Given the description of an element on the screen output the (x, y) to click on. 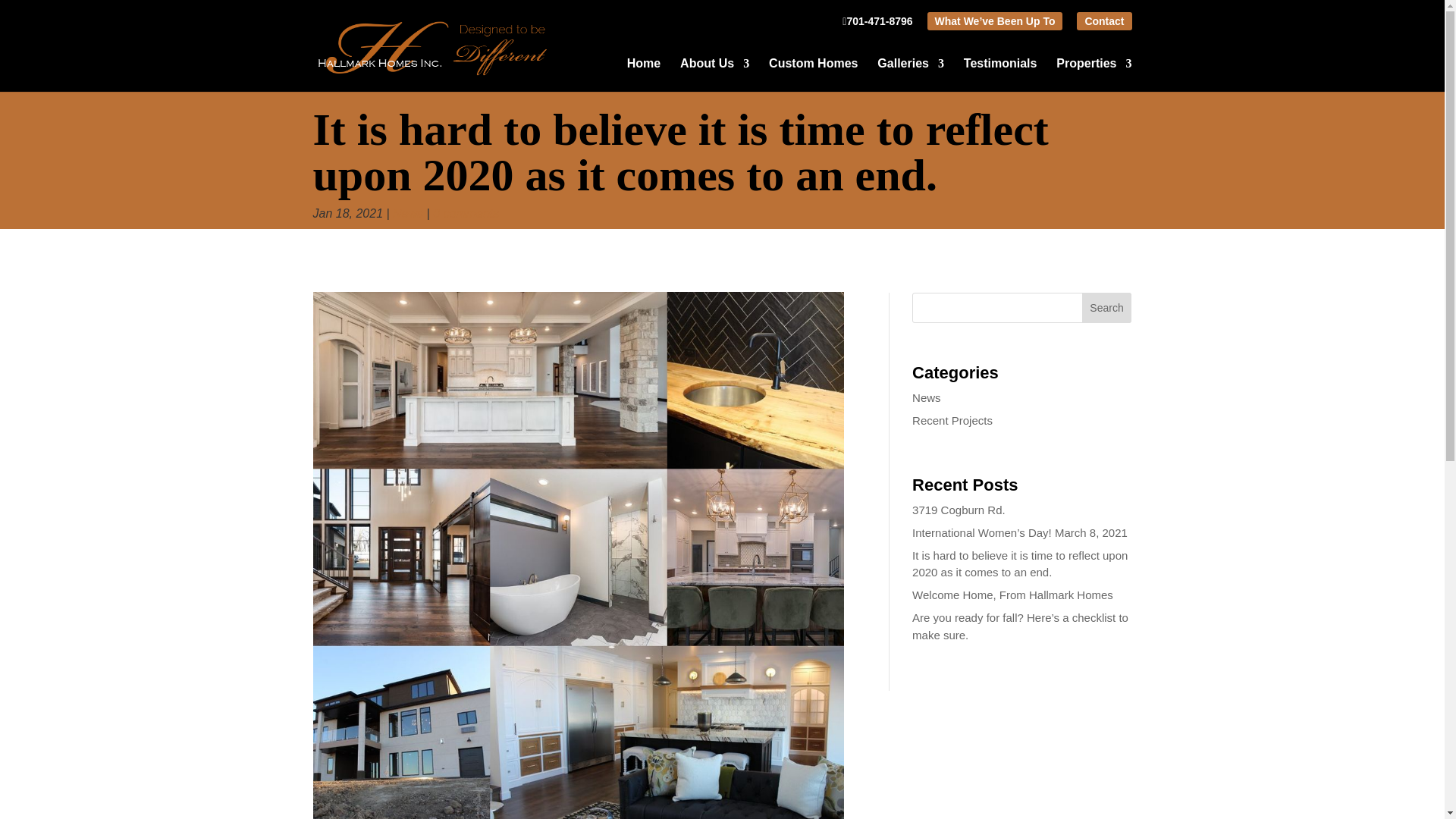
Properties (1094, 73)
Galleries (910, 73)
Home (644, 73)
Custom Homes (812, 73)
Contact (1104, 21)
Search (1106, 307)
701-471-8796 (877, 25)
About Us (714, 73)
Testimonials (999, 73)
